Given the description of an element on the screen output the (x, y) to click on. 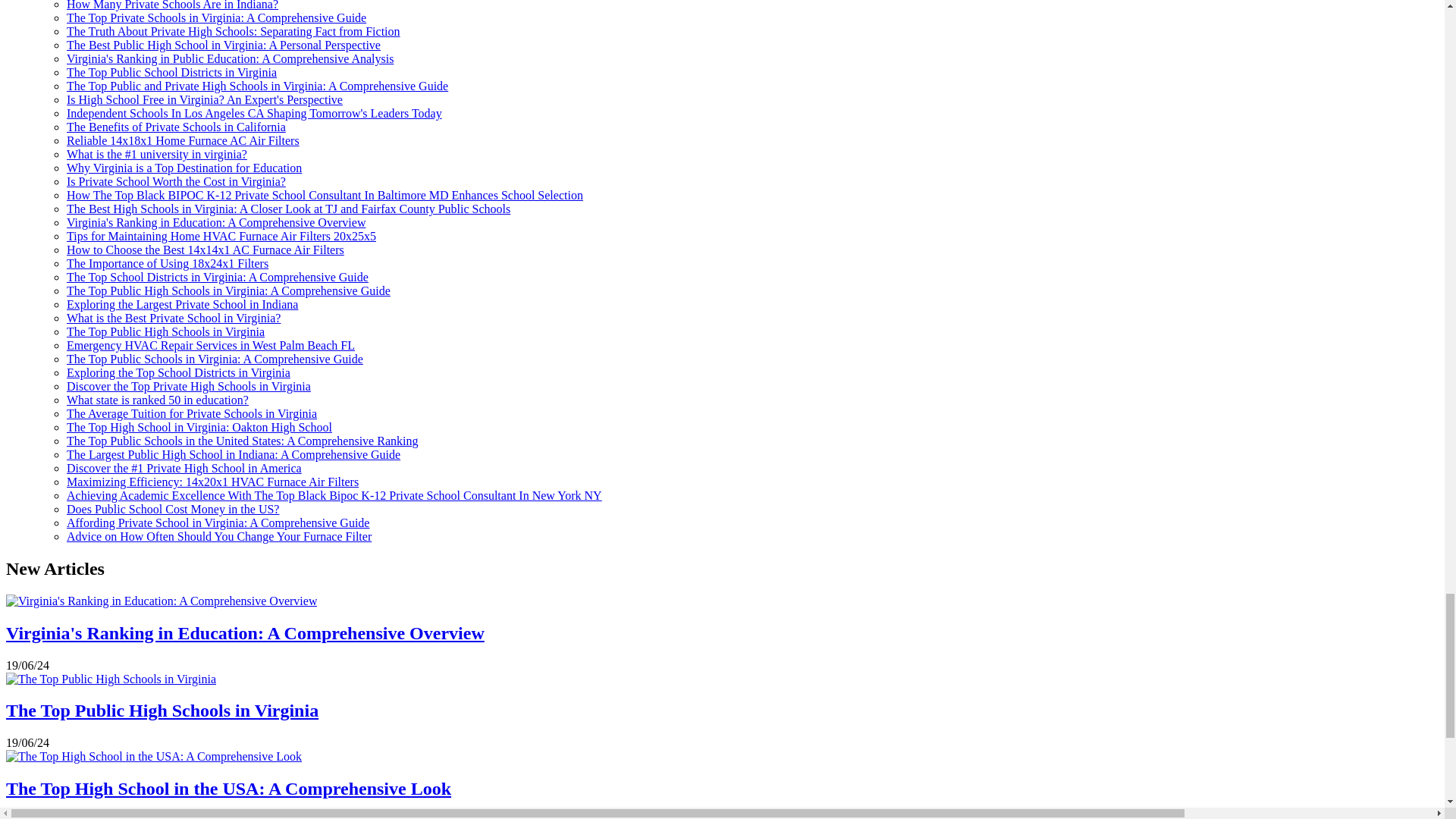
The Top Public School Districts in Virginia (171, 72)
The Top Private Schools in Virginia: A Comprehensive Guide (216, 17)
How Many Private Schools Are in Indiana? (172, 5)
